Given the description of an element on the screen output the (x, y) to click on. 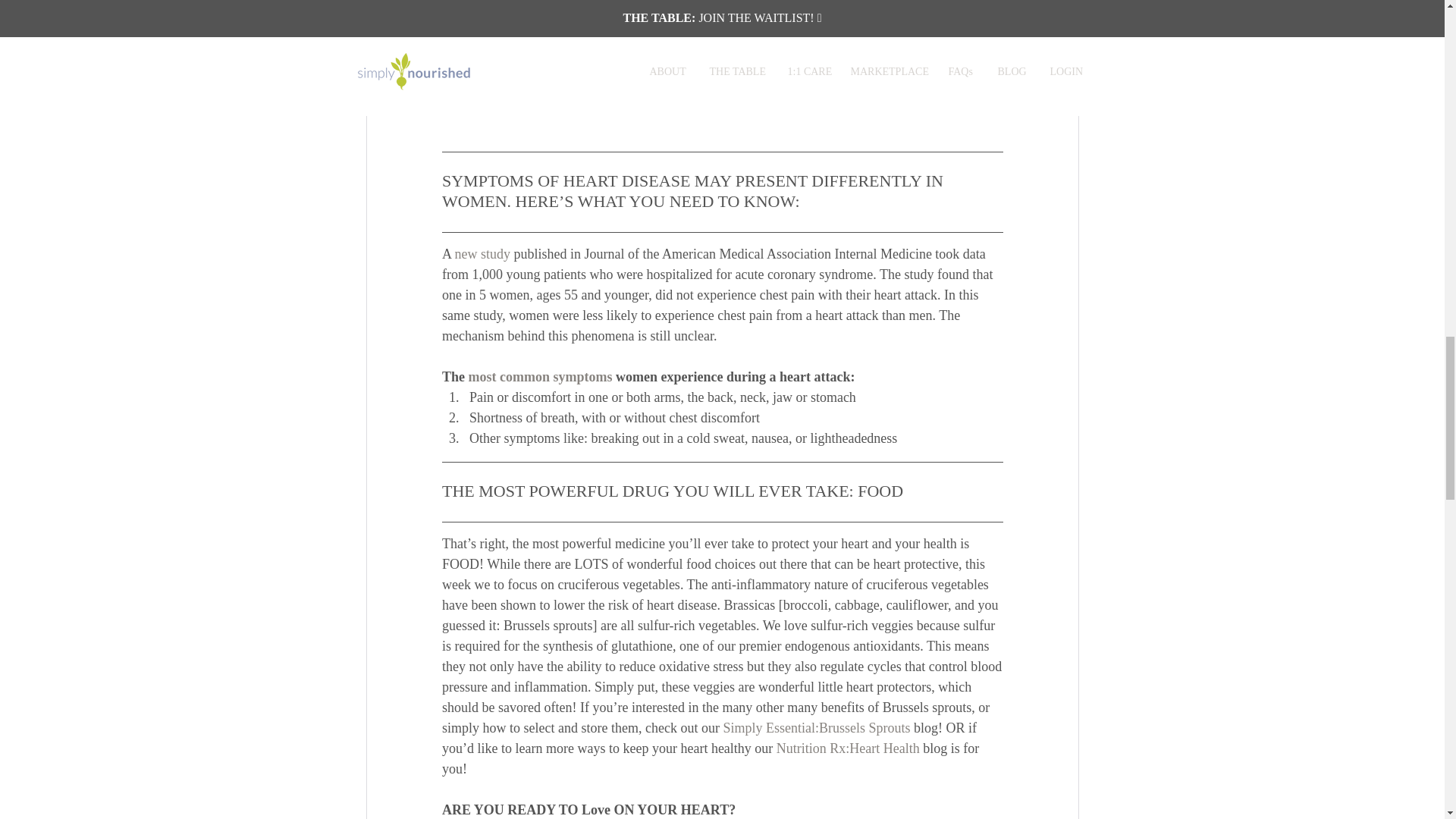
new study (482, 253)
Simply Essential:Brussels Sprouts (816, 728)
most common symptoms (539, 376)
Nutrition Rx:Heart Health (847, 749)
 Circulation (831, 46)
